Given the description of an element on the screen output the (x, y) to click on. 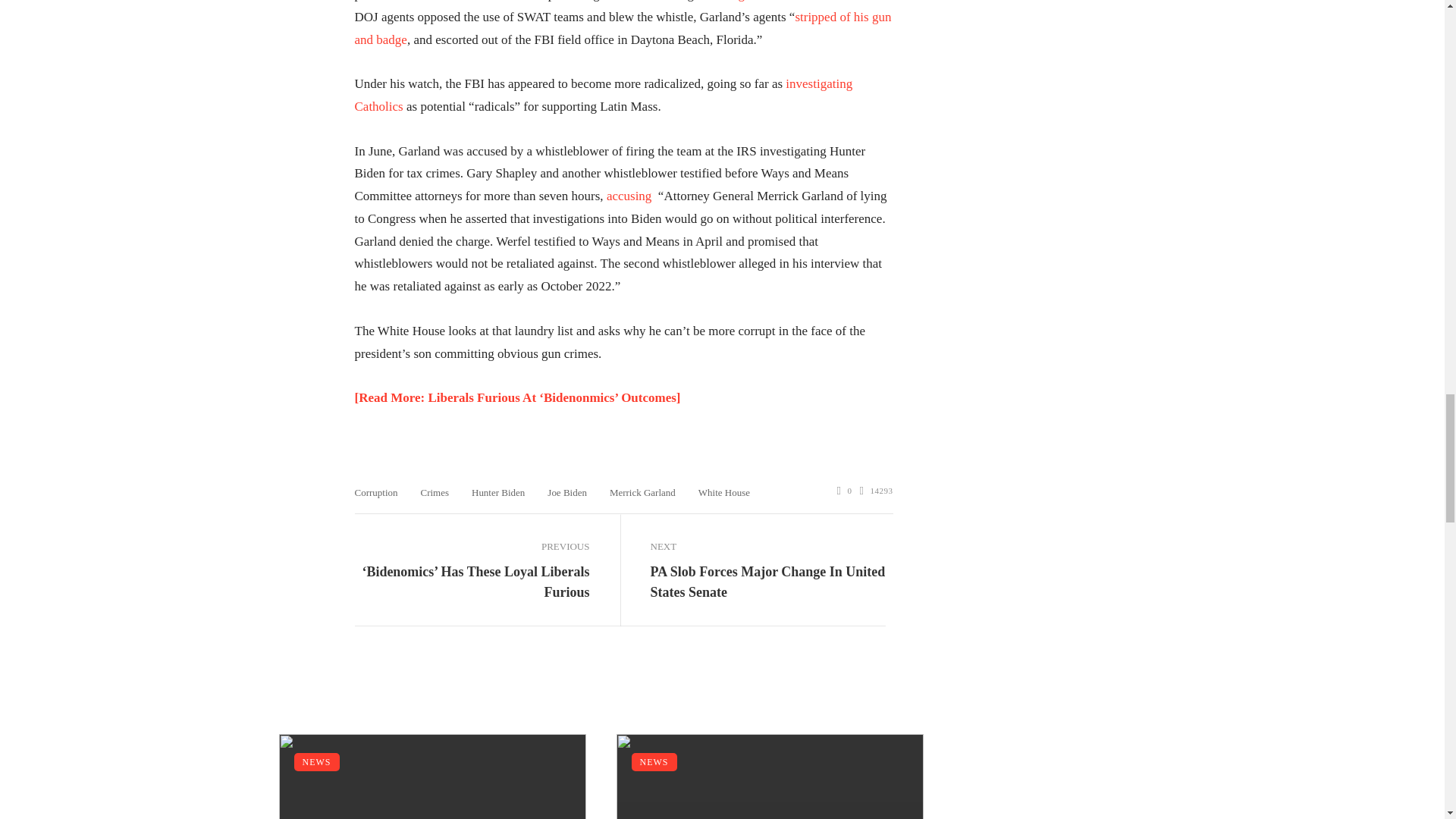
Corruption (376, 491)
0 Comments (844, 490)
being domestic terrorists (779, 0)
stripped of his gun and badge (623, 27)
accusing (628, 196)
investigating Catholics (604, 94)
Crimes (434, 491)
Hunter Biden (497, 491)
Joe Biden (566, 491)
Merrick Garland (642, 491)
